Given the description of an element on the screen output the (x, y) to click on. 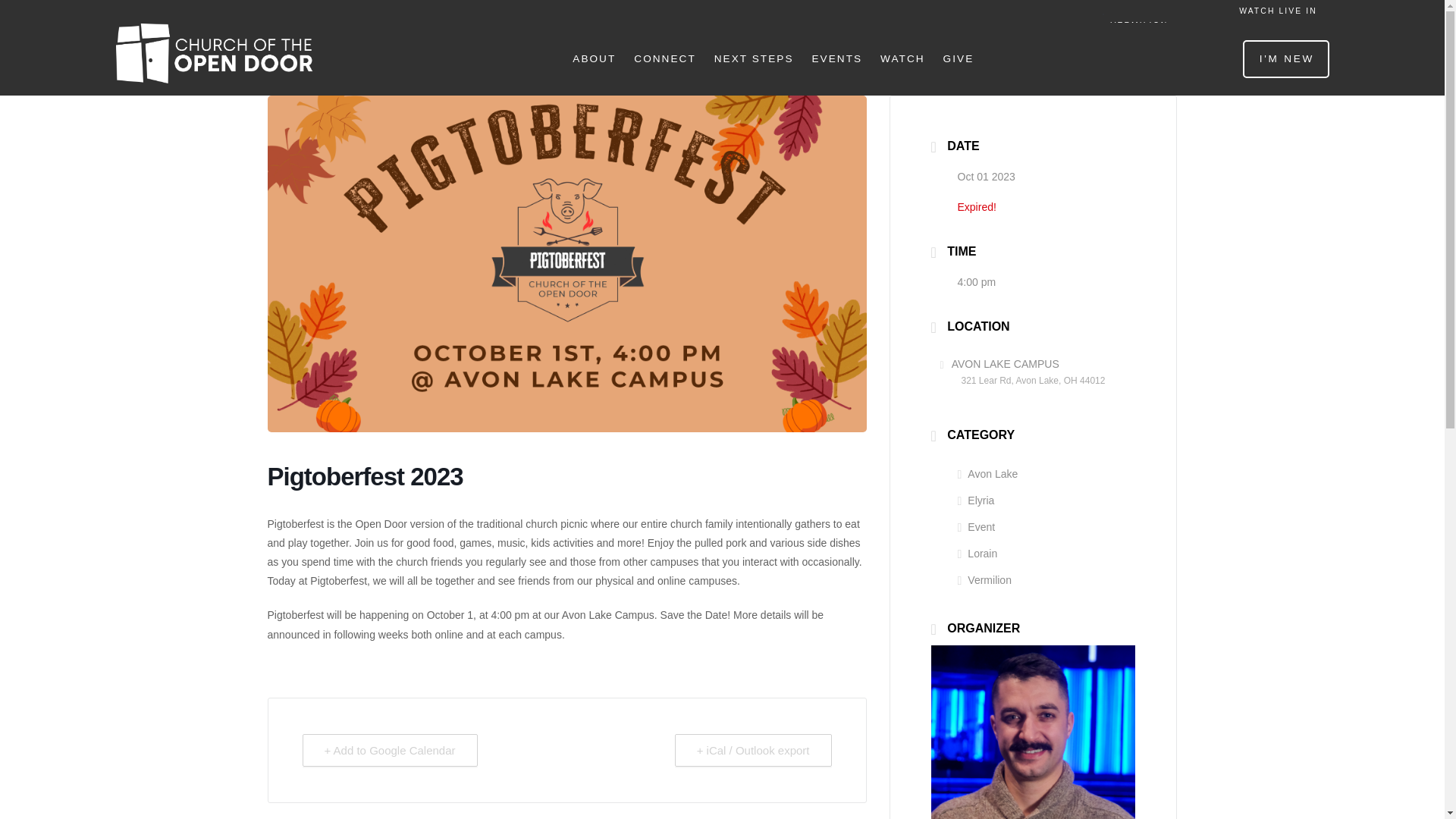
Event (975, 526)
Elyria (975, 500)
Vermilion (983, 580)
Lorain (976, 553)
Avon Lake (986, 473)
NEXT STEPS (753, 59)
GIVE (957, 59)
VERMILION (1166, 25)
I'M NEW (1286, 58)
ABOUT (593, 59)
WATCH LIVE IN (1277, 11)
CONNECT (663, 59)
EVENTS (836, 59)
WATCH (901, 59)
